Given the description of an element on the screen output the (x, y) to click on. 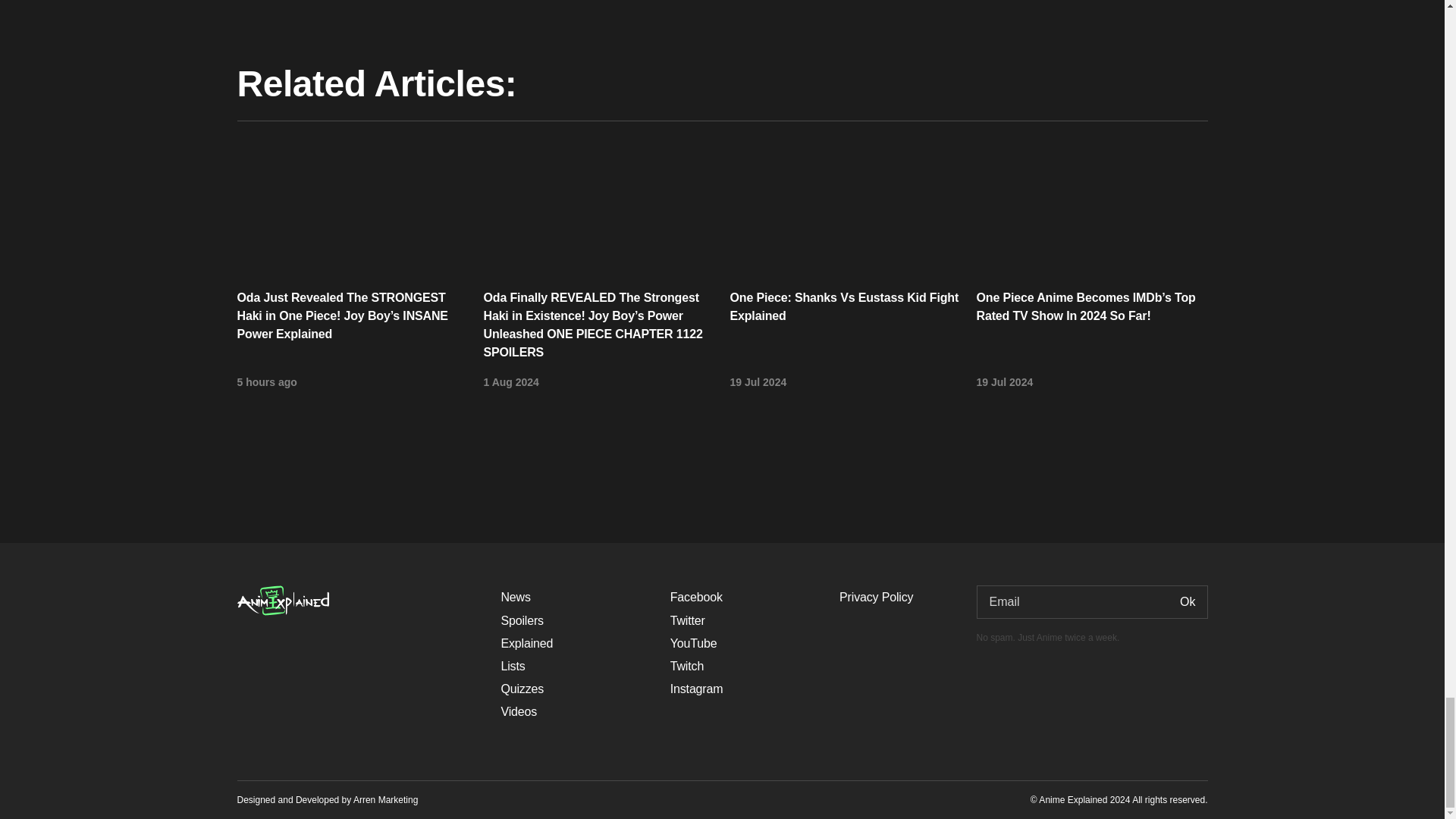
Ok (1187, 601)
